Given the description of an element on the screen output the (x, y) to click on. 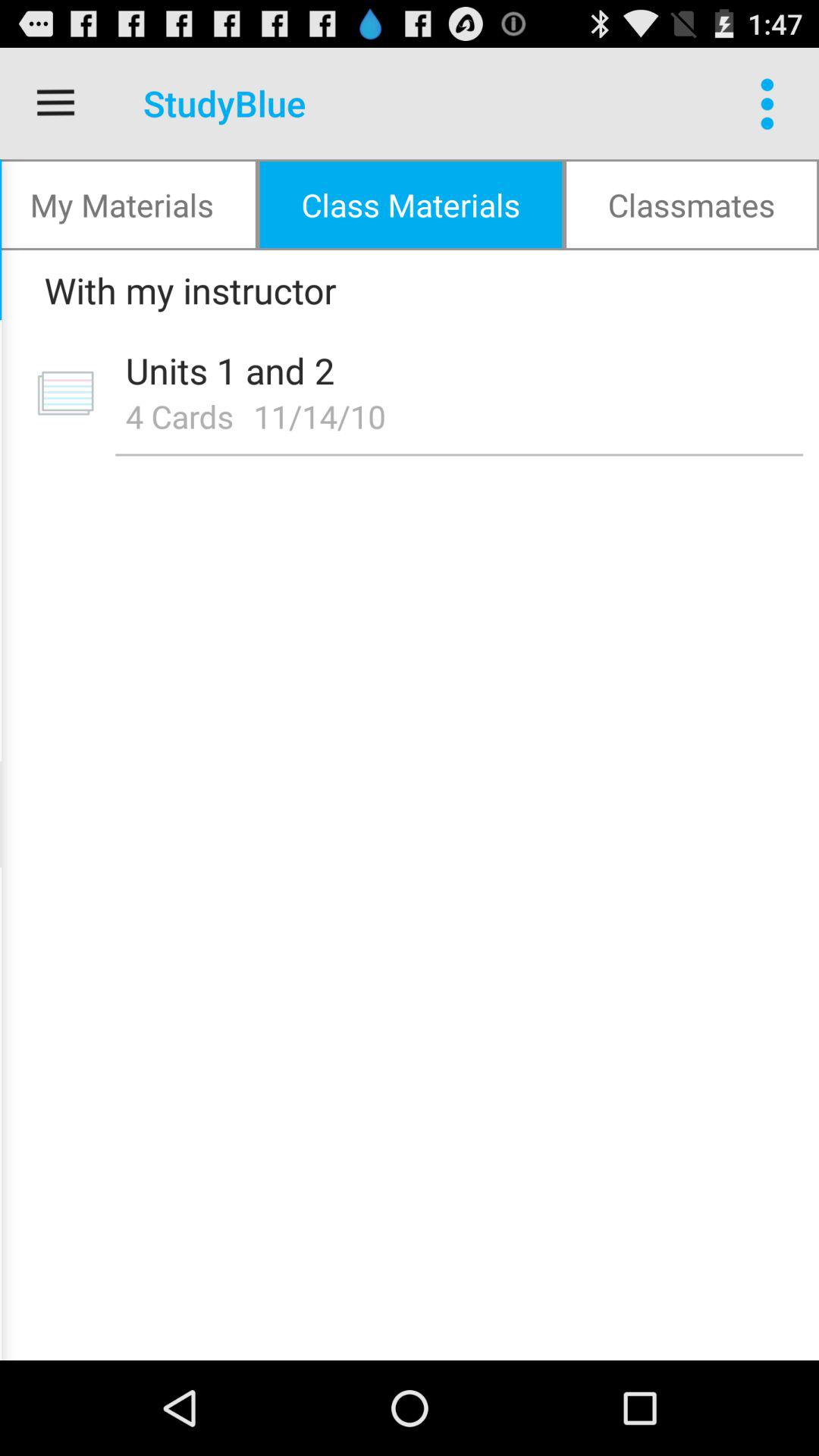
launch item above the my materials icon (55, 103)
